Given the description of an element on the screen output the (x, y) to click on. 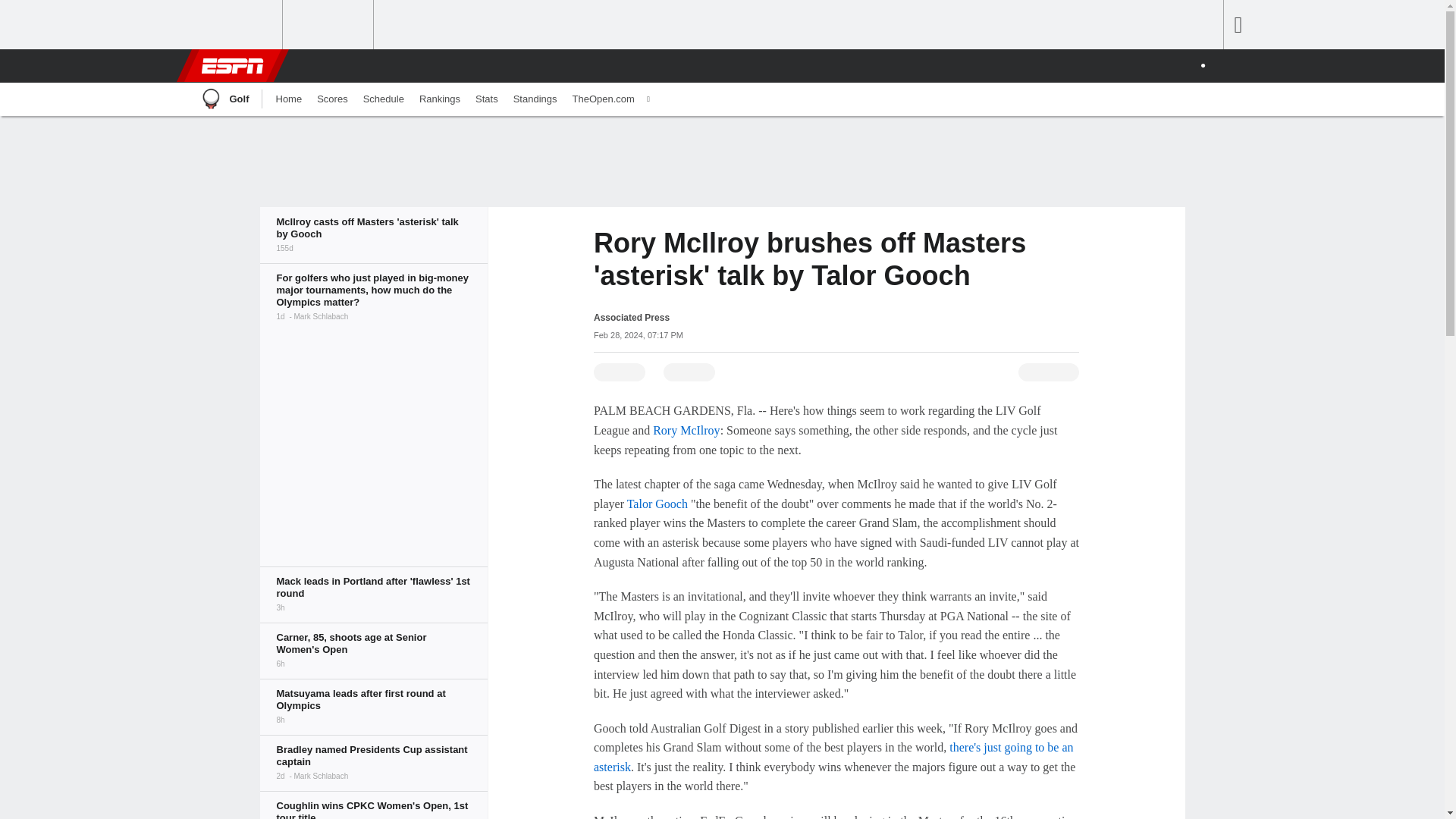
Golf (223, 99)
Home (288, 99)
ESPN (231, 65)
